Given the description of an element on the screen output the (x, y) to click on. 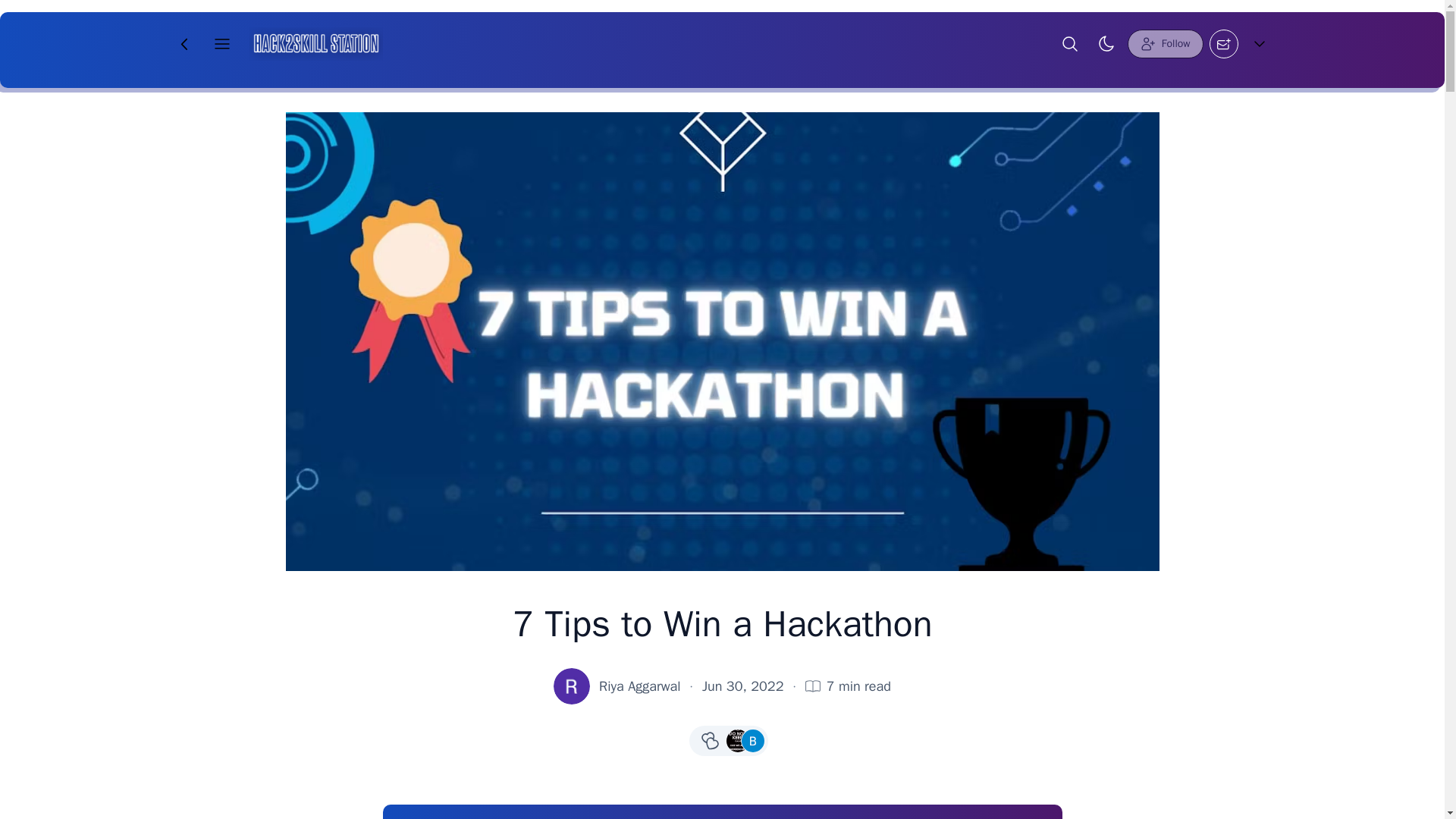
Jun 30, 2022 (742, 685)
Follow (1165, 43)
Riya Aggarwal (639, 685)
